Given the description of an element on the screen output the (x, y) to click on. 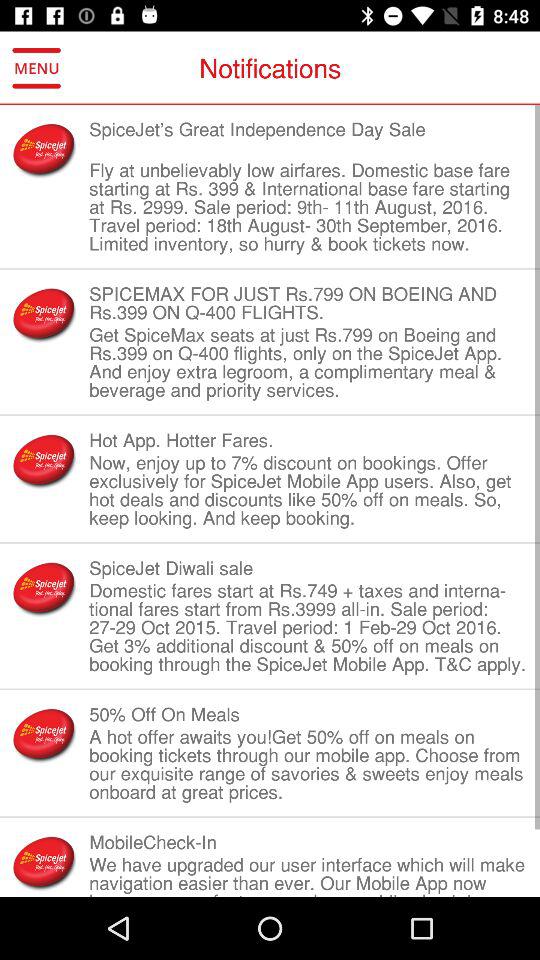
click icon below the now enjoy up item (307, 567)
